Given the description of an element on the screen output the (x, y) to click on. 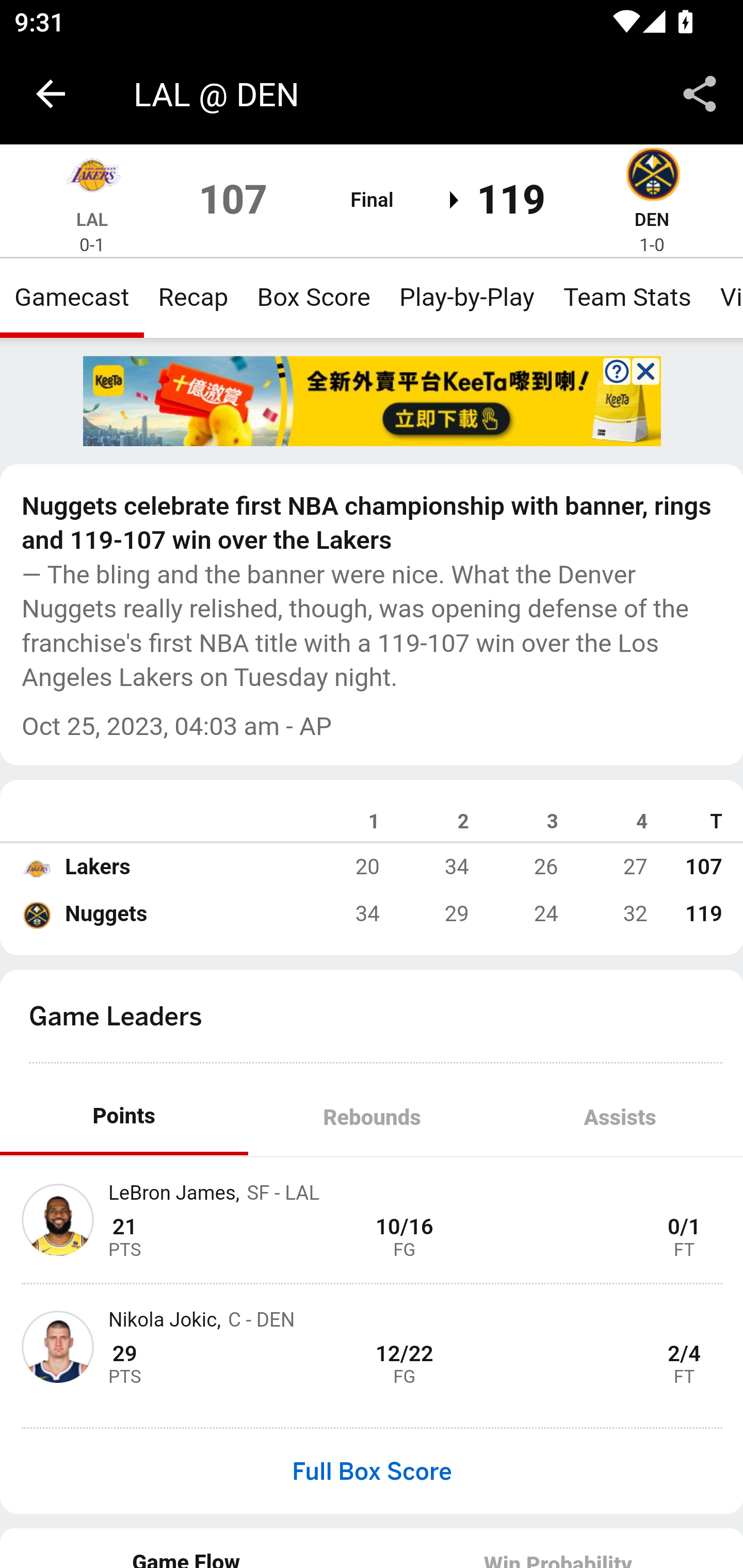
Navigate up (50, 93)
Share (699, 93)
Los Angeles Lakers (91, 177)
Denver Nuggets (651, 177)
LAL (92, 219)
DEN (651, 219)
Gamecast (72, 296)
Recap (192, 296)
Box Score (314, 296)
Play-by-Play (466, 296)
Team Stats (627, 296)
Los Angeles Lakers (36, 866)
Denver Nuggets (36, 913)
Points (124, 1116)
Rebounds (371, 1116)
Assists (618, 1116)
Full Box Score (371, 1471)
Game Flow (186, 1547)
Win Probability (557, 1547)
